Given the description of an element on the screen output the (x, y) to click on. 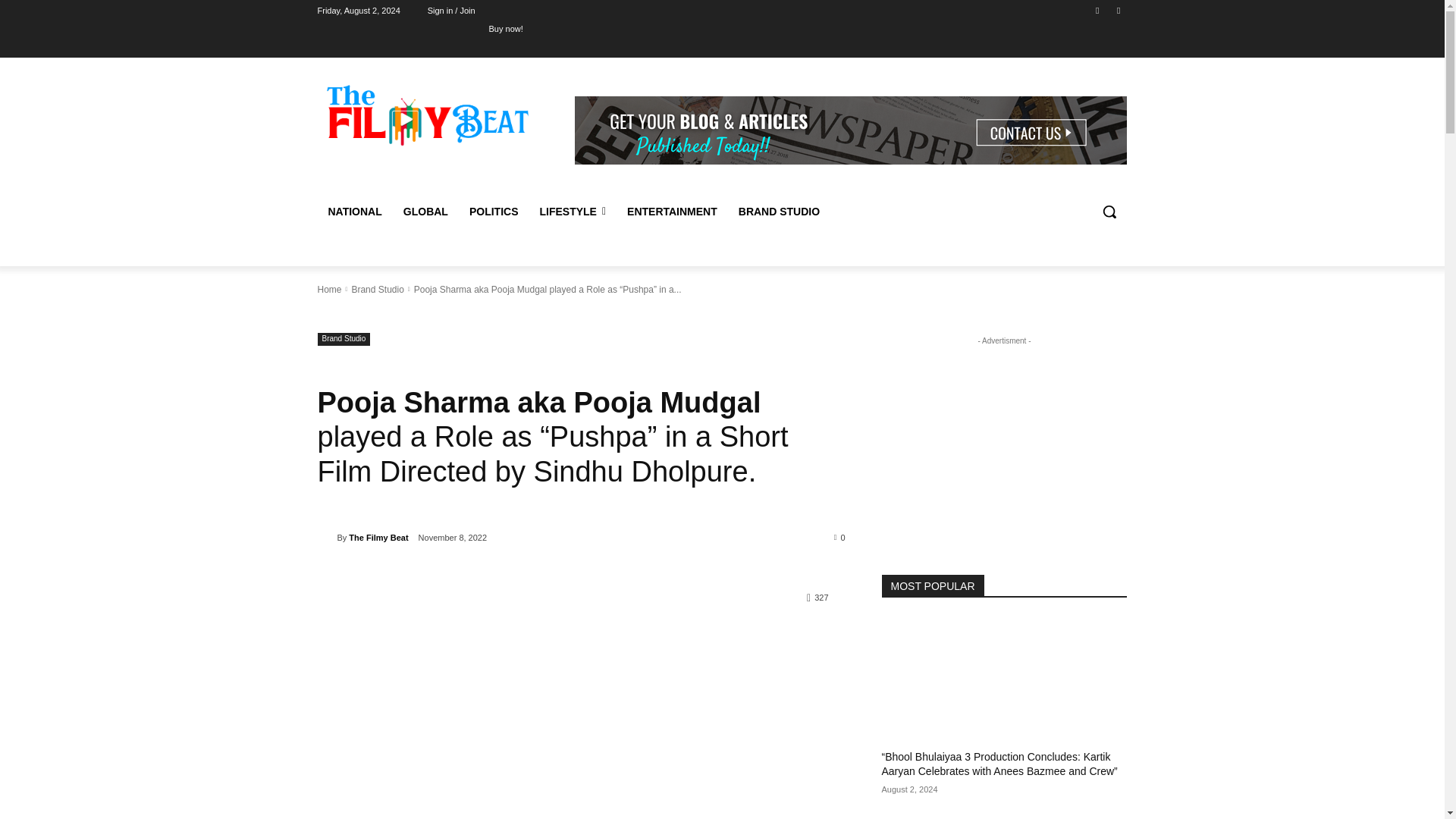
GLOBAL (425, 211)
NATIONAL (354, 211)
Facebook (1097, 9)
LIFESTYLE (571, 211)
Buy now! (505, 28)
POLITICS (493, 211)
Instagram (1117, 9)
